Given the description of an element on the screen output the (x, y) to click on. 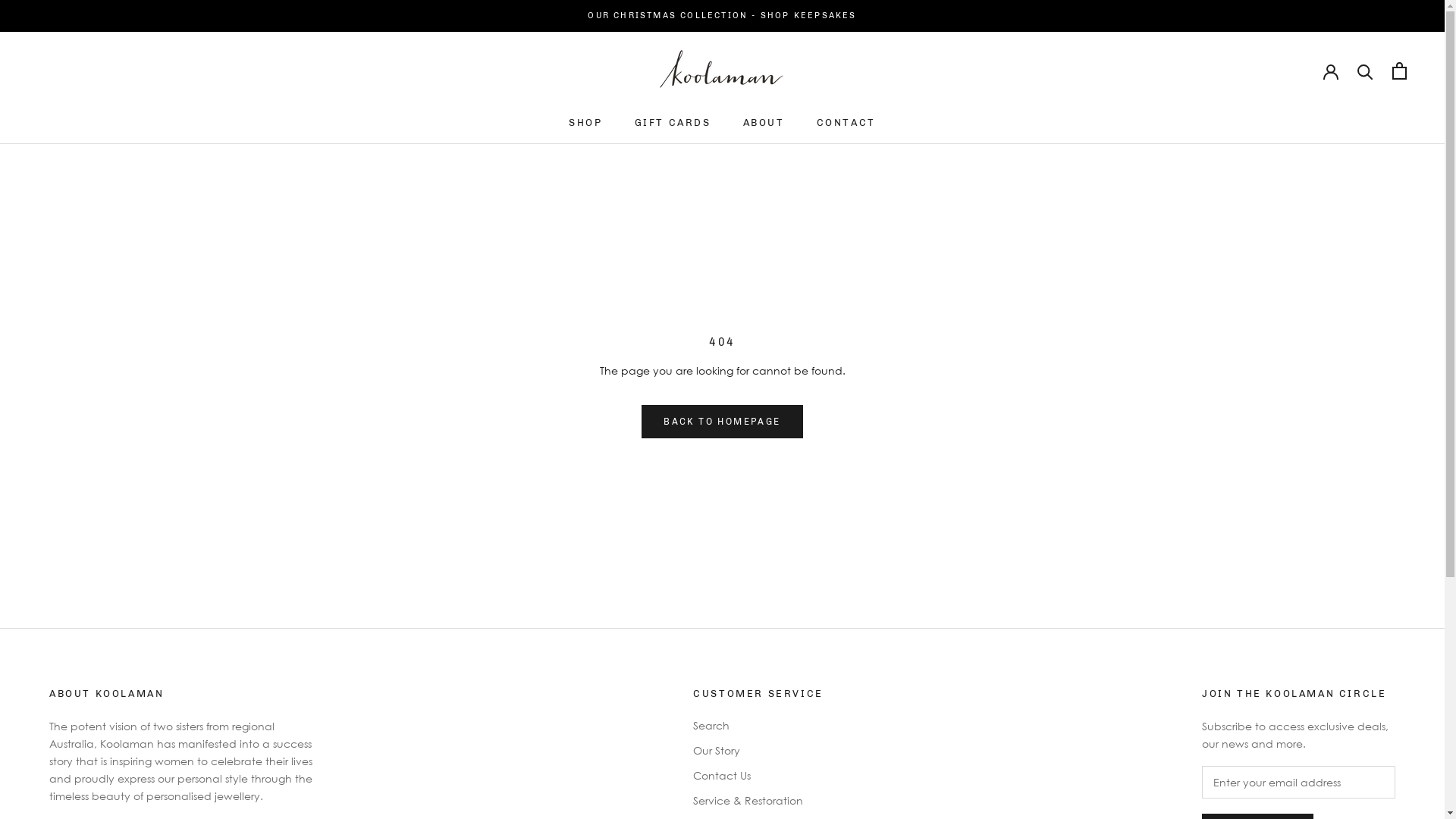
BACK TO HOMEPAGE Element type: text (721, 421)
CONTACT
CONTACT Element type: text (845, 122)
Search Element type: text (758, 725)
Our Story Element type: text (758, 750)
GIFT CARDS
GIFT CARDS Element type: text (672, 122)
OUR CHRISTMAS COLLECTION - SHOP KEEPSAKES Element type: text (721, 15)
Service & Restoration Element type: text (758, 800)
SHOP Element type: text (585, 122)
ABOUT
ABOUT Element type: text (763, 122)
Contact Us Element type: text (758, 775)
